Given the description of an element on the screen output the (x, y) to click on. 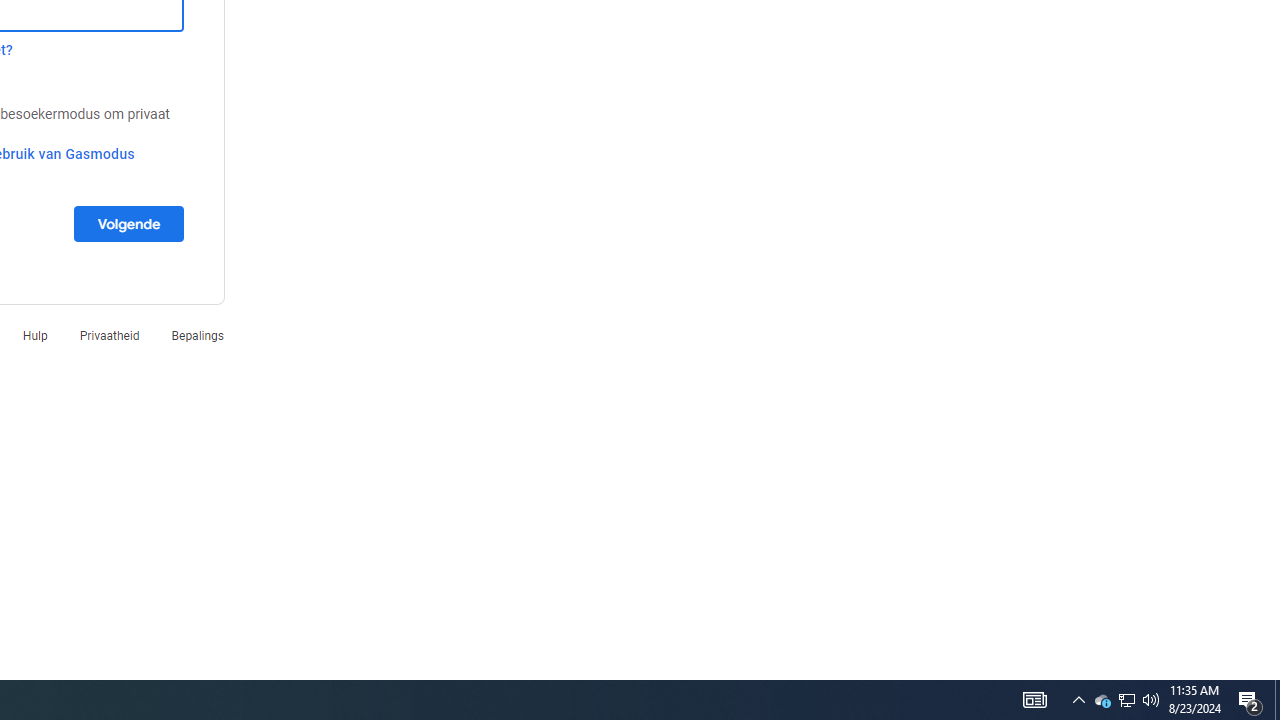
Volgende (128, 223)
Privaatheid (109, 335)
Bepalings (197, 335)
Hulp (35, 335)
